Given the description of an element on the screen output the (x, y) to click on. 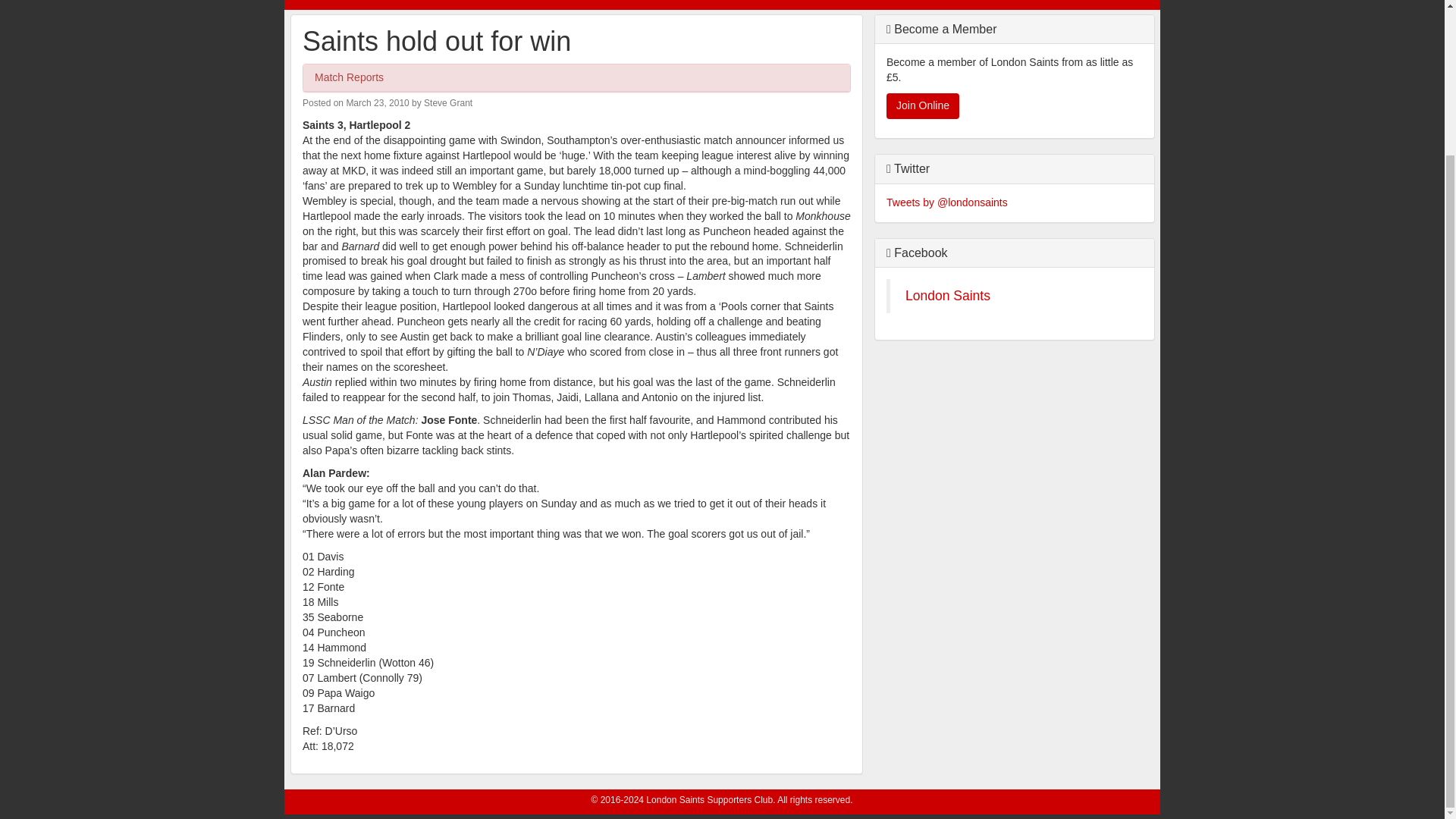
Join Online (922, 105)
News (370, 4)
Home (314, 4)
Travel (614, 4)
About (426, 4)
Contacts (735, 4)
London Saints (947, 295)
Tickets (560, 4)
Match Reports (349, 77)
Social (671, 4)
